Given the description of an element on the screen output the (x, y) to click on. 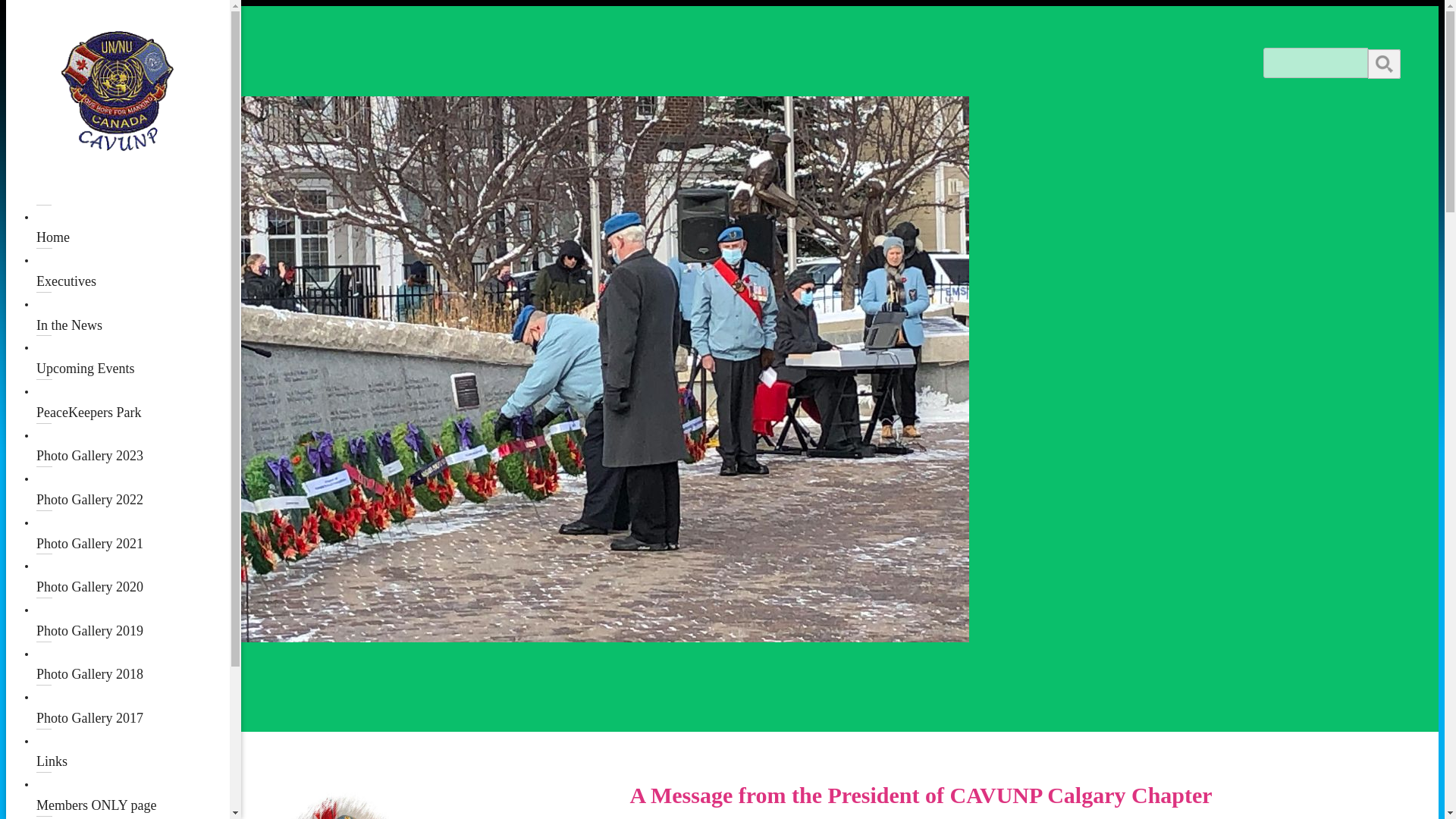
Go to site home page Element type: hover (117, 90)
Go to site home page Element type: hover (117, 142)
PeaceKeepers Park Element type: text (132, 401)
Photo Gallery 2023 Element type: text (132, 445)
Links Element type: text (132, 750)
Search Element type: text (1384, 63)
Photo Gallery 2021 Element type: text (132, 532)
Photo Gallery 2020 Element type: text (132, 575)
In the News Element type: text (132, 313)
Photo Gallery 2017 Element type: text (132, 706)
Home Element type: text (132, 226)
Photo Gallery 2019 Element type: text (132, 619)
Upcoming Events Element type: text (132, 357)
Photo Gallery 2018 Element type: text (132, 663)
Members ONLY page Element type: text (132, 793)
Executives Element type: text (132, 269)
Photo Gallery 2022 Element type: text (132, 488)
